Given the description of an element on the screen output the (x, y) to click on. 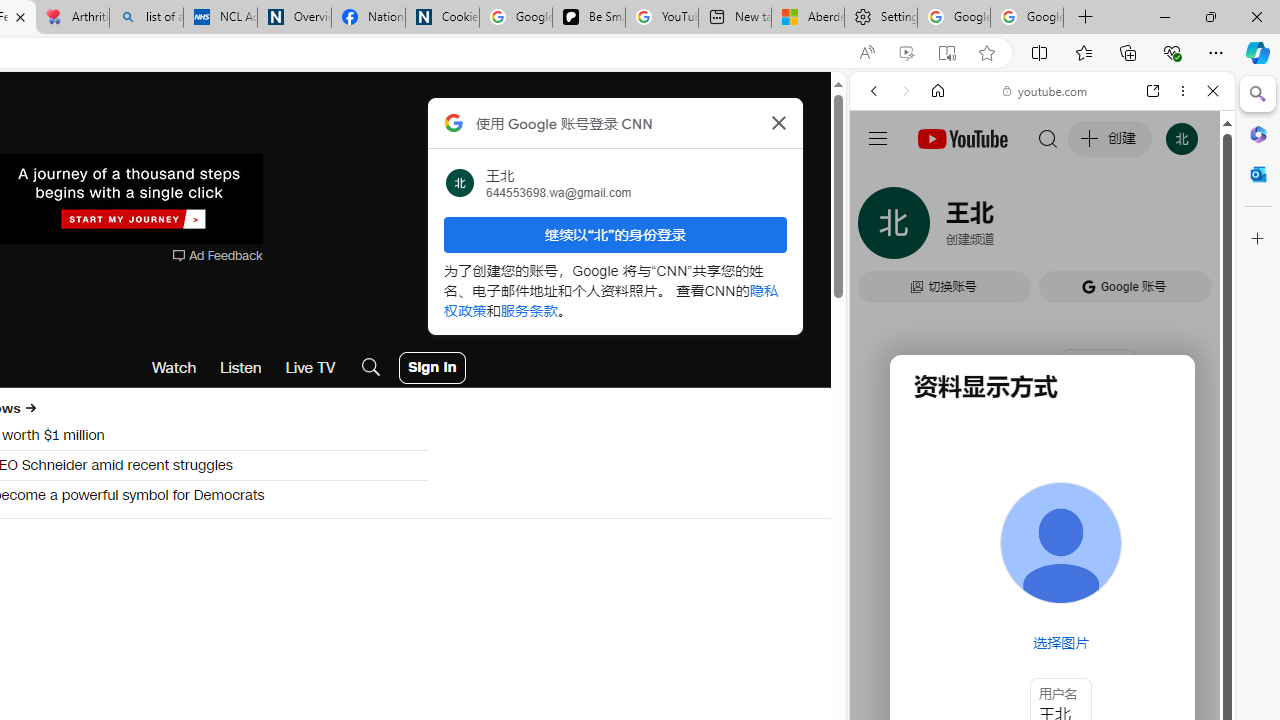
Web scope (882, 180)
